Given the description of an element on the screen output the (x, y) to click on. 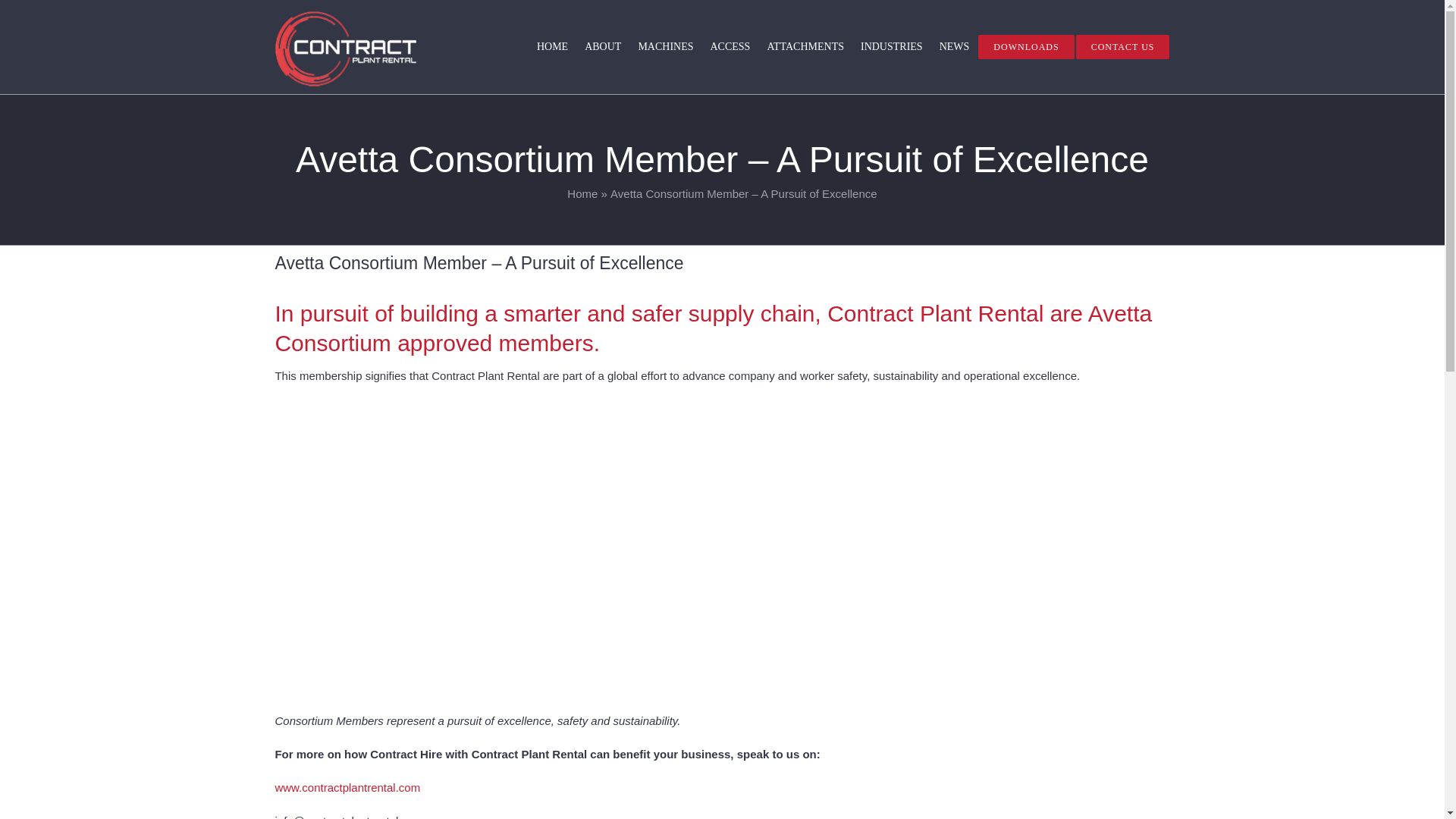
MACHINES (665, 46)
ATTACHMENTS (804, 46)
NEWS (953, 46)
HOME (552, 46)
www.contractplantrental.com (347, 787)
Home (581, 193)
DOWNLOADS (1026, 46)
INDUSTRIES (891, 46)
ABOUT (602, 46)
ACCESS (729, 46)
